Given the description of an element on the screen output the (x, y) to click on. 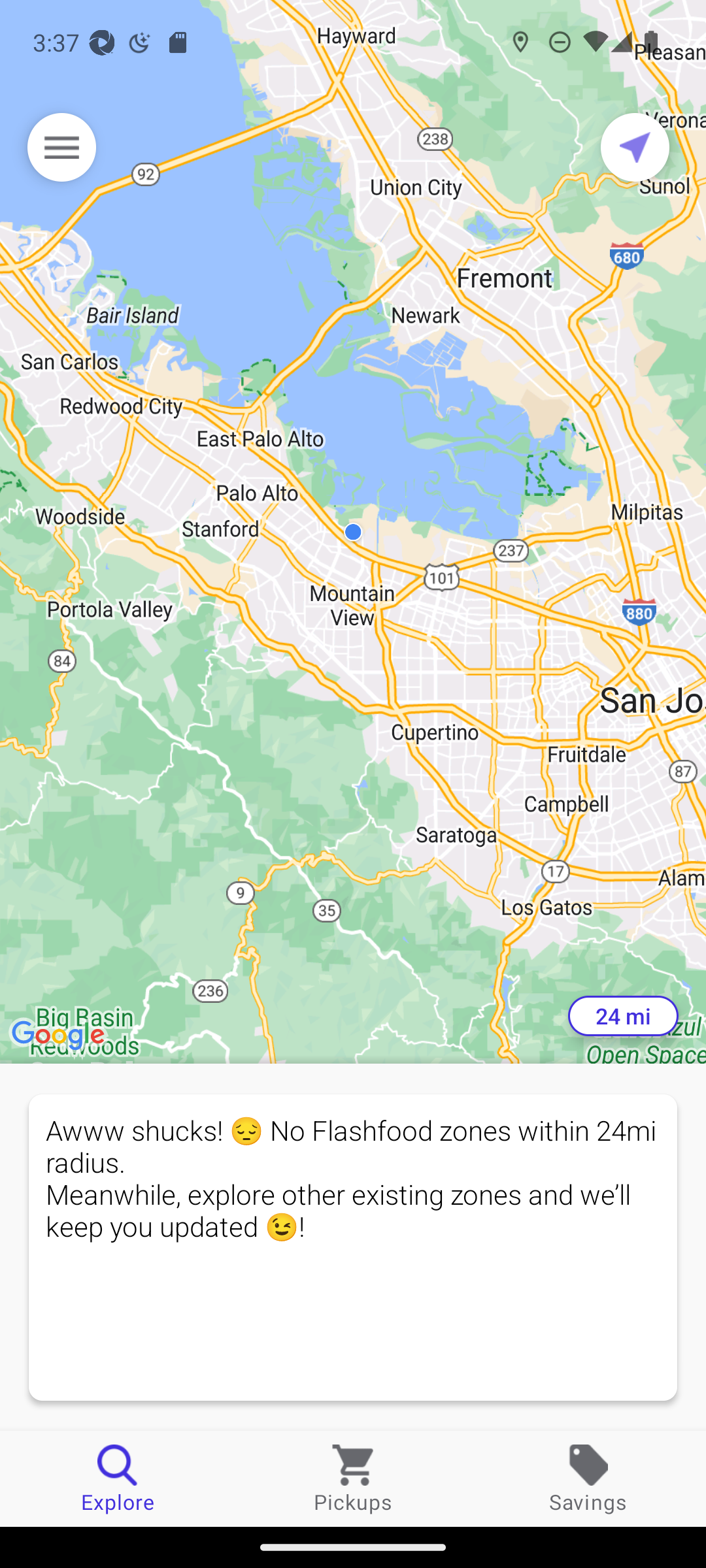
Menu (61, 146)
Current location (634, 146)
24 mi (623, 1015)
Pickups (352, 1478)
Savings (588, 1478)
